Given the description of an element on the screen output the (x, y) to click on. 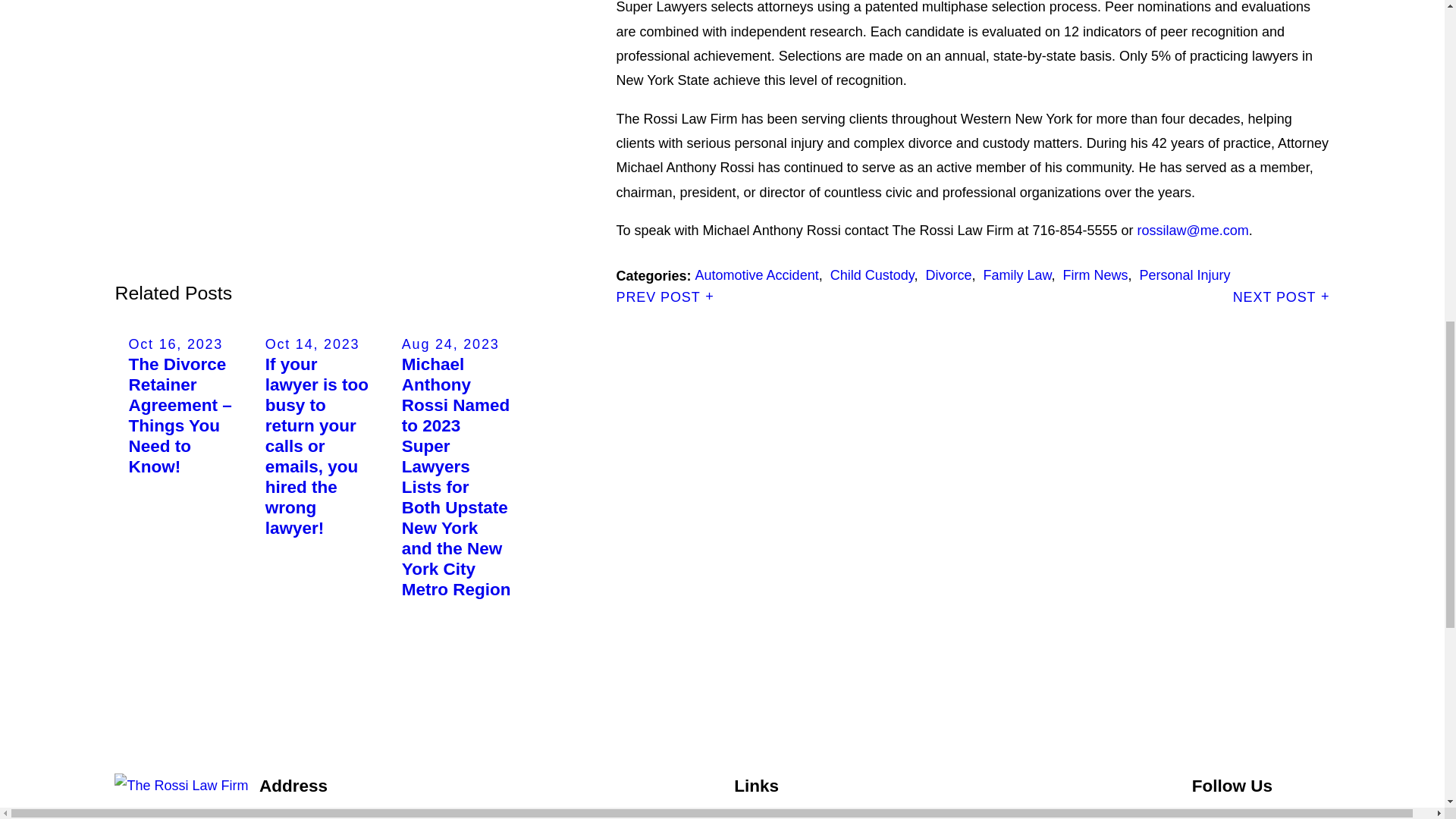
LinkedIn (1319, 816)
Google Business Profile (1240, 816)
Twitter (1280, 816)
Home (187, 785)
Facebook (1201, 816)
